Given the description of an element on the screen output the (x, y) to click on. 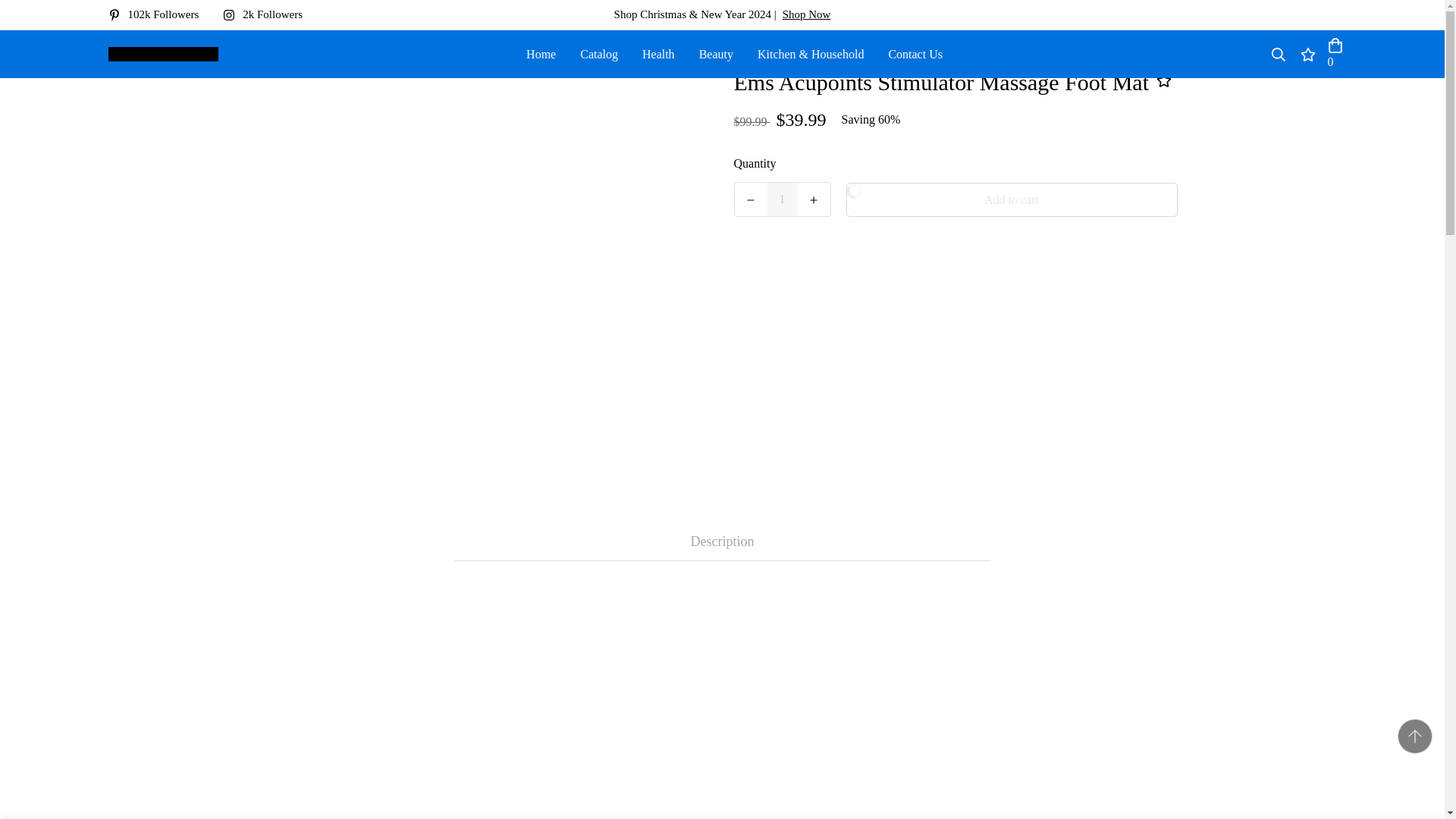
Health (658, 53)
Home (540, 53)
102k Followers (158, 14)
Catalog (598, 53)
Shop Now (807, 14)
Beauty (716, 53)
1 (782, 199)
2k Followers (268, 14)
Contact Us (915, 53)
